Given the description of an element on the screen output the (x, y) to click on. 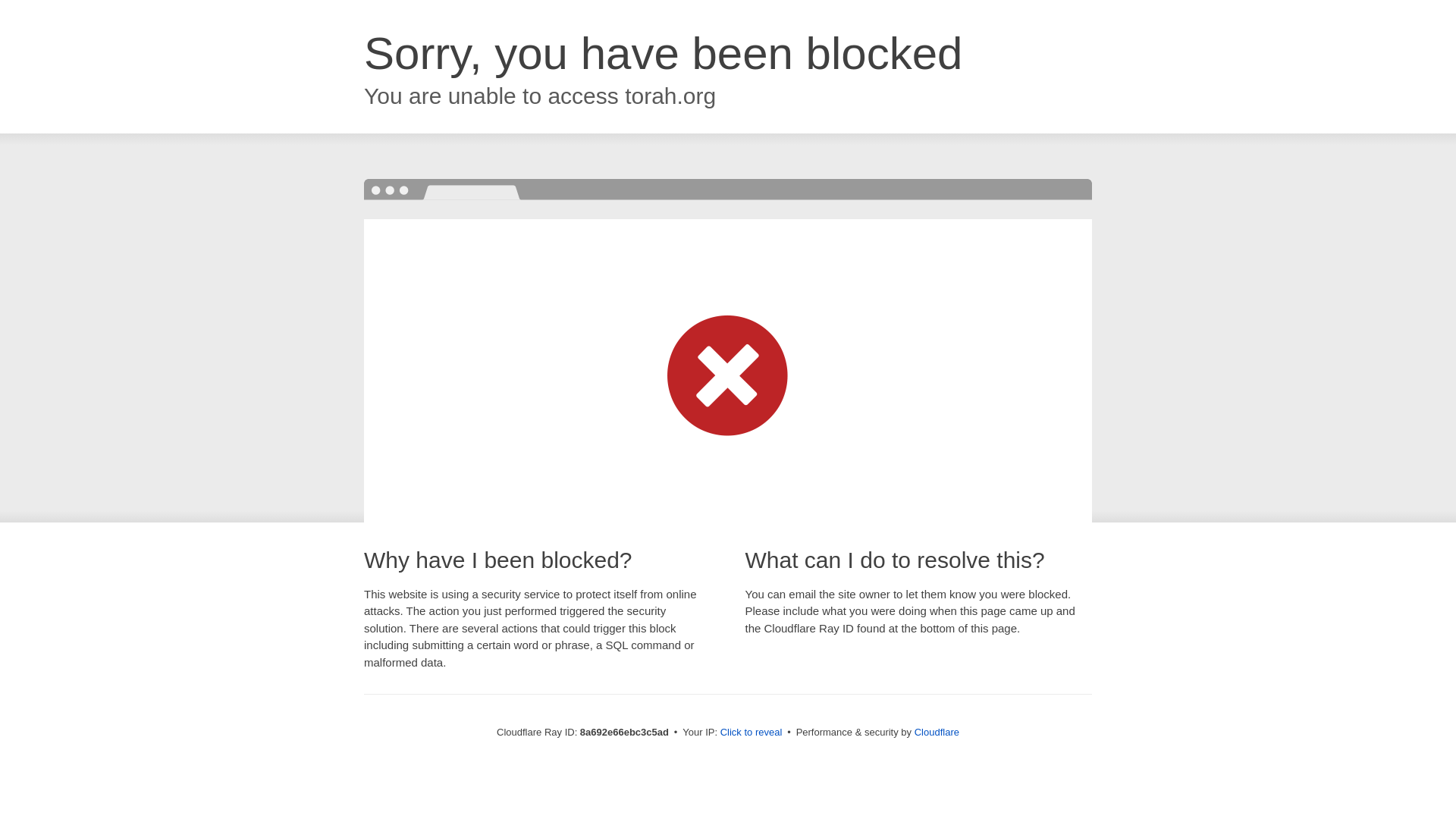
Click to reveal (751, 732)
Cloudflare (936, 731)
